Given the description of an element on the screen output the (x, y) to click on. 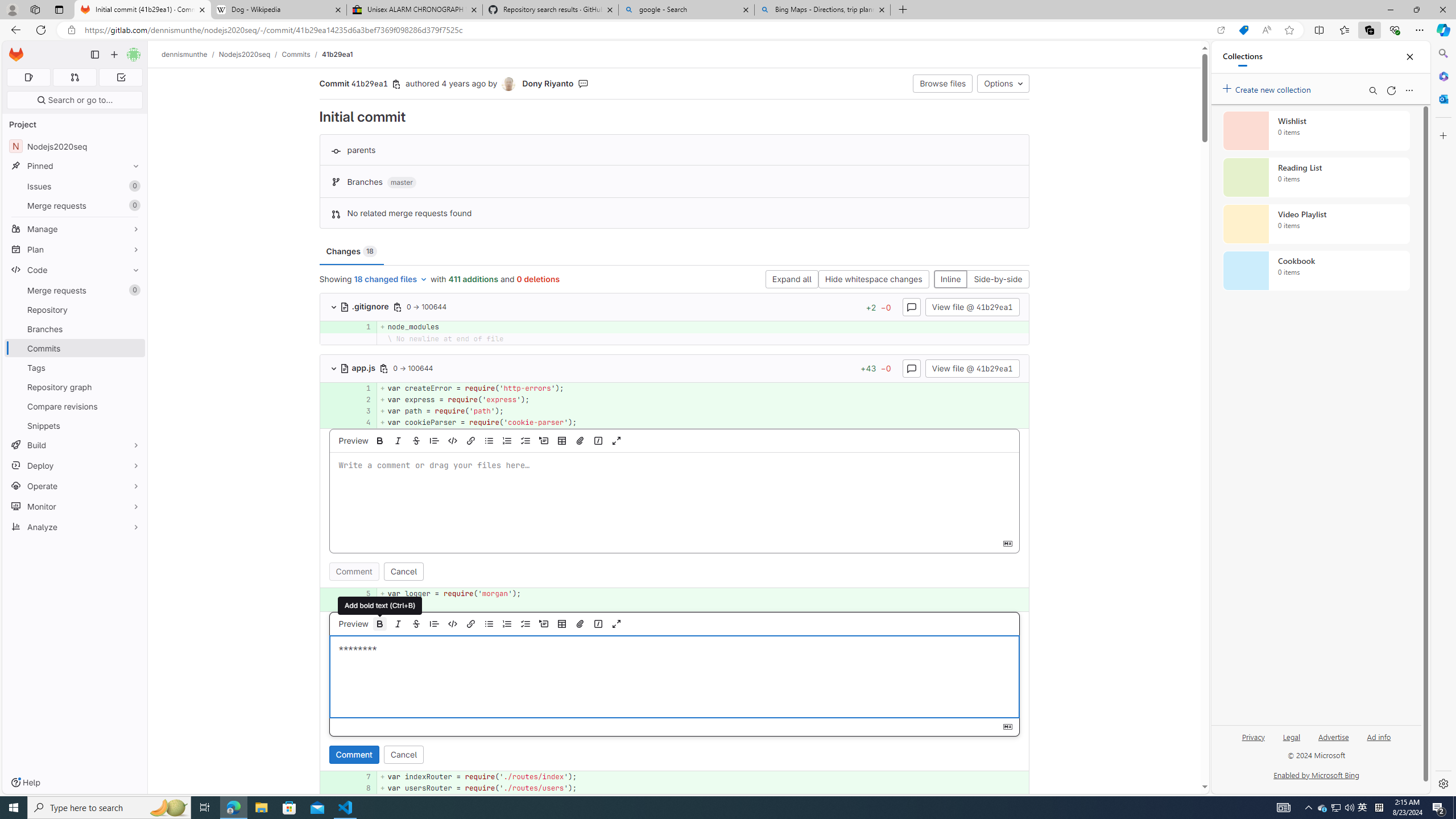
Customize (1442, 135)
Inline (950, 279)
Plan (74, 248)
Compare revisions (74, 406)
+ var path = require('path');  (703, 410)
Pin Tags (132, 367)
dennismunthe (184, 53)
Copy commit SHA (396, 83)
AutomationID: 4a68969ef8e858229267b842dedf42ab5dde4d50_0_7 (674, 776)
Read aloud this page (Ctrl+Shift+U) (1266, 29)
Wishlist collection, 0 items (1316, 130)
New Tab (903, 9)
Deploy (74, 465)
